Given the description of an element on the screen output the (x, y) to click on. 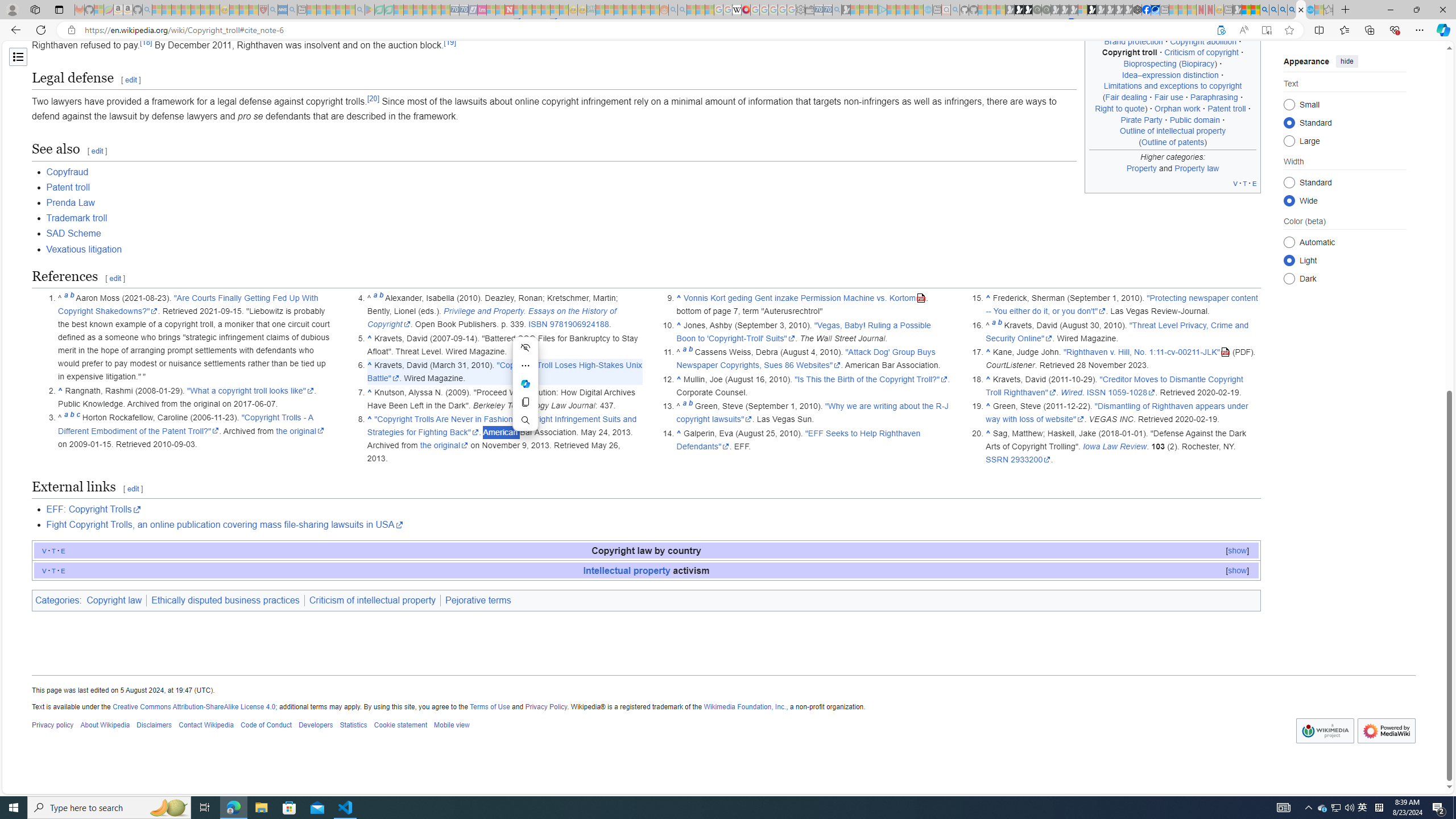
2009 Bing officially replaced Live Search on June 3 - Search (1272, 9)
"Copyright Troll Loses High-Stakes Unix Battle" (504, 371)
Patent troll (68, 186)
Ethically disputed business practices (224, 600)
Statistics (352, 725)
Cheap Hotels - Save70.com - Sleeping (463, 9)
Contact Wikipedia (206, 725)
